Given the description of an element on the screen output the (x, y) to click on. 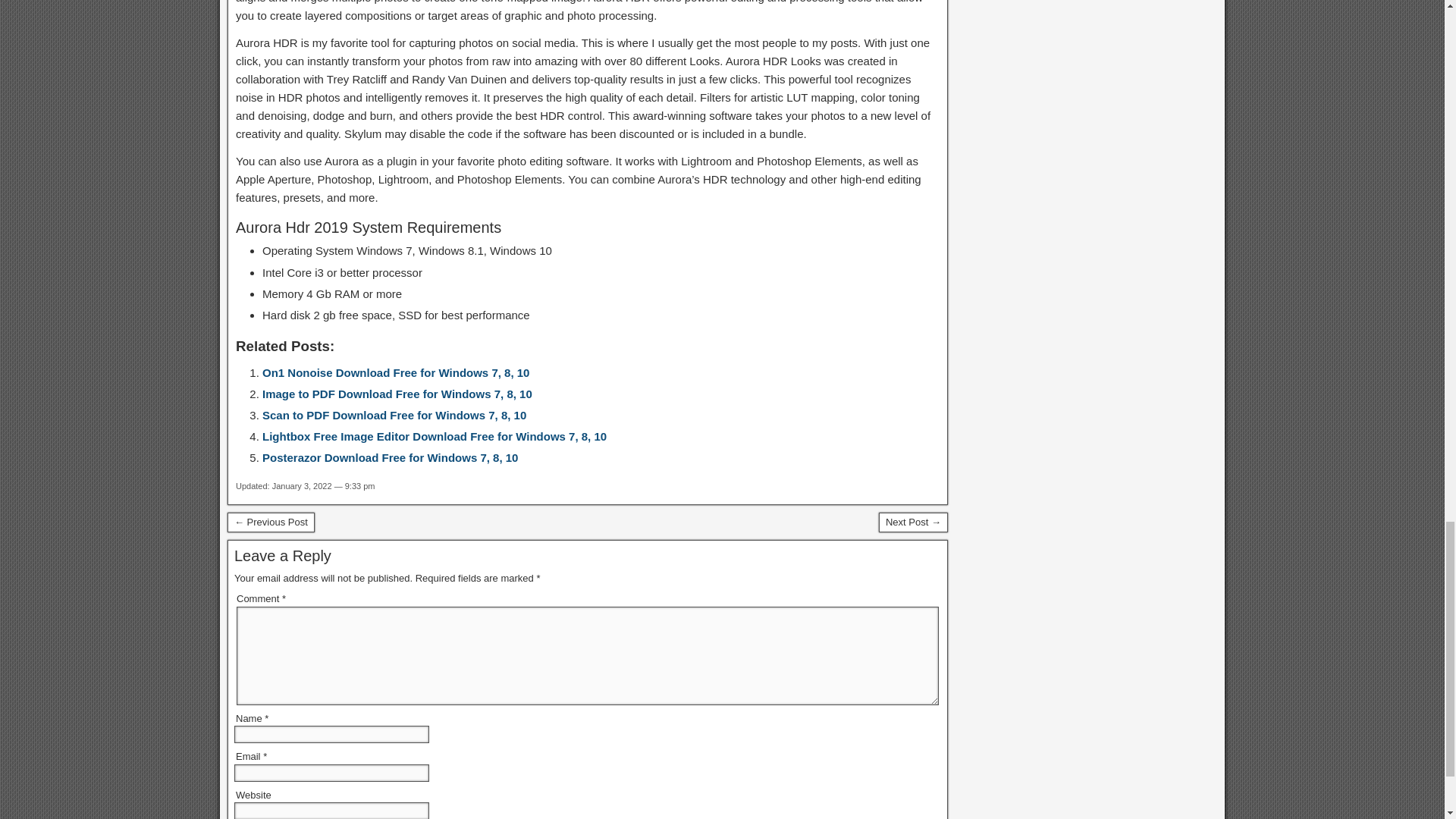
Posterazor Download Free for Windows 7, 8, 10 (390, 457)
On1 Nonoise Download Free for Windows 7, 8, 10 (395, 372)
On1 Nonoise Download Free for Windows 7, 8, 10 (395, 372)
Scan to PDF Download Free for Windows 7, 8, 10 (393, 414)
Posterazor Download Free for Windows 7, 8, 10 (390, 457)
Scan to PDF Download Free for Windows 7, 8, 10 (393, 414)
Image to PDF Download Free for Windows 7, 8, 10 (397, 393)
Autodesk Revit Mep 2015 Download Free for Windows 7, 8, 10 (270, 522)
Image to PDF Download Free for Windows 7, 8, 10 (397, 393)
